Given the description of an element on the screen output the (x, y) to click on. 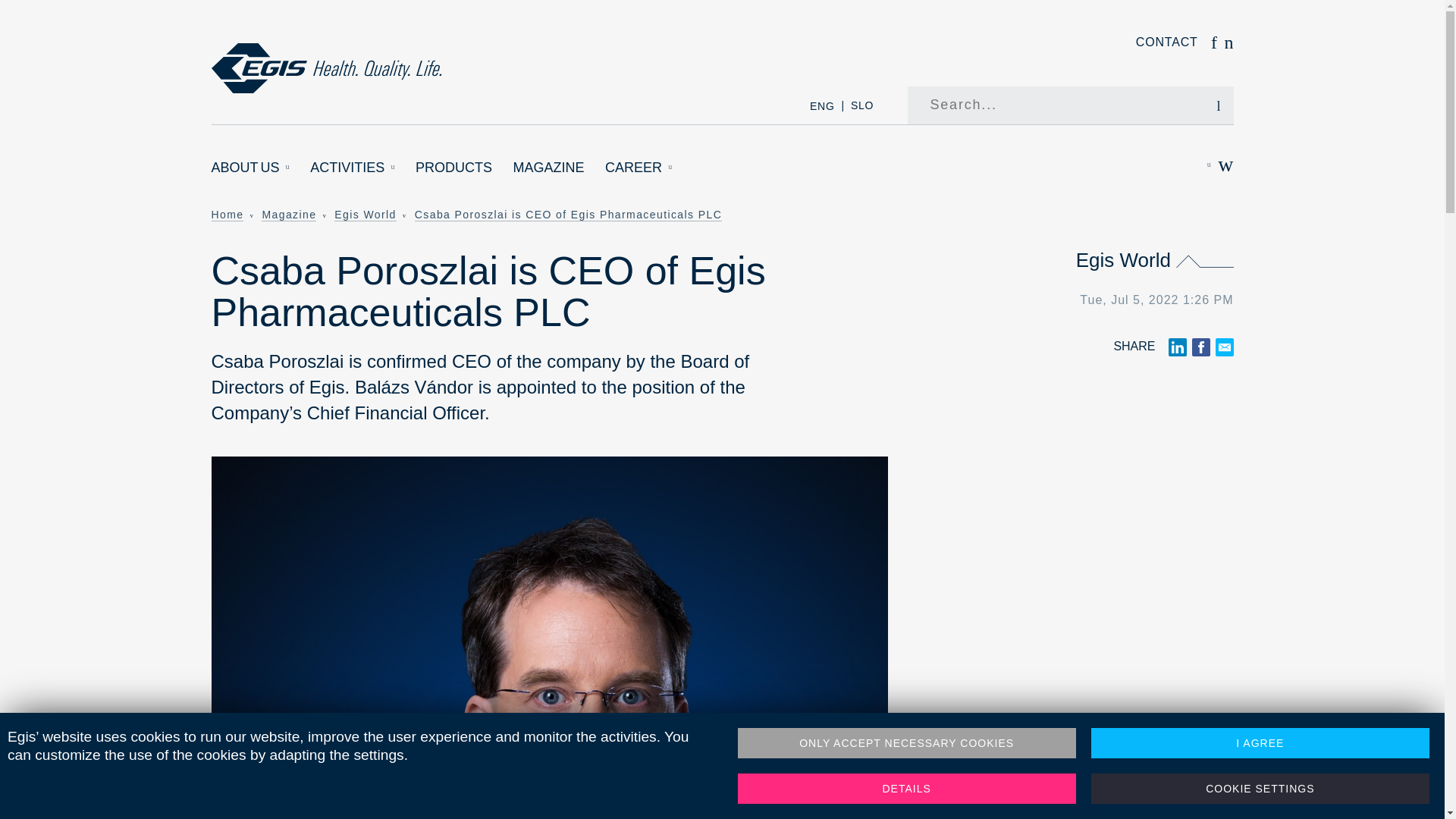
ABOUT US (250, 167)
SLO (861, 105)
Home (326, 68)
CAREER (638, 167)
CONTACT (1166, 42)
MAGAZINE (548, 167)
ACTIVITIES (352, 167)
PRODUCTS (453, 167)
ENG (821, 105)
